Given the description of an element on the screen output the (x, y) to click on. 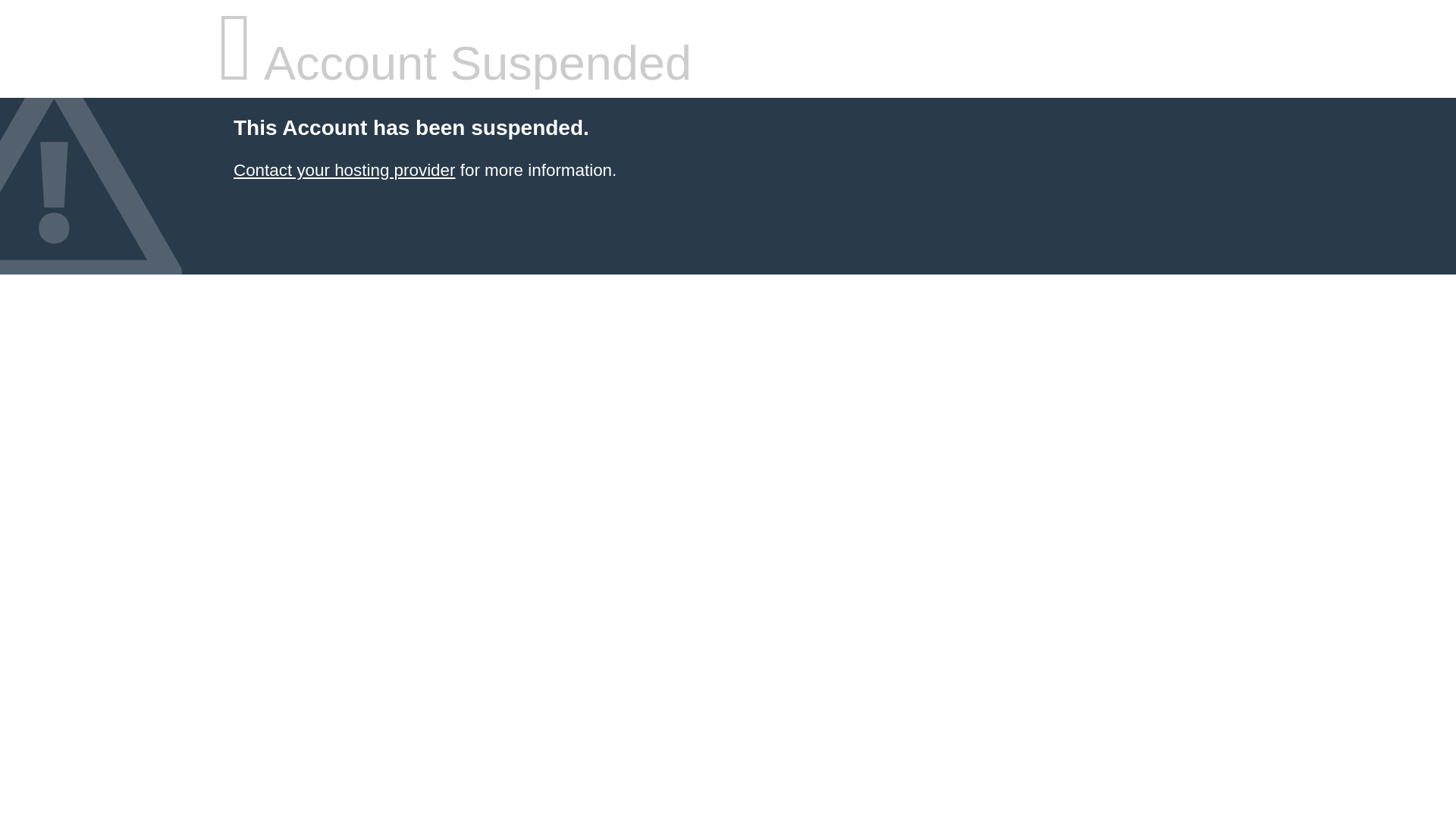
Contact your hosting provider (343, 169)
